Given the description of an element on the screen output the (x, y) to click on. 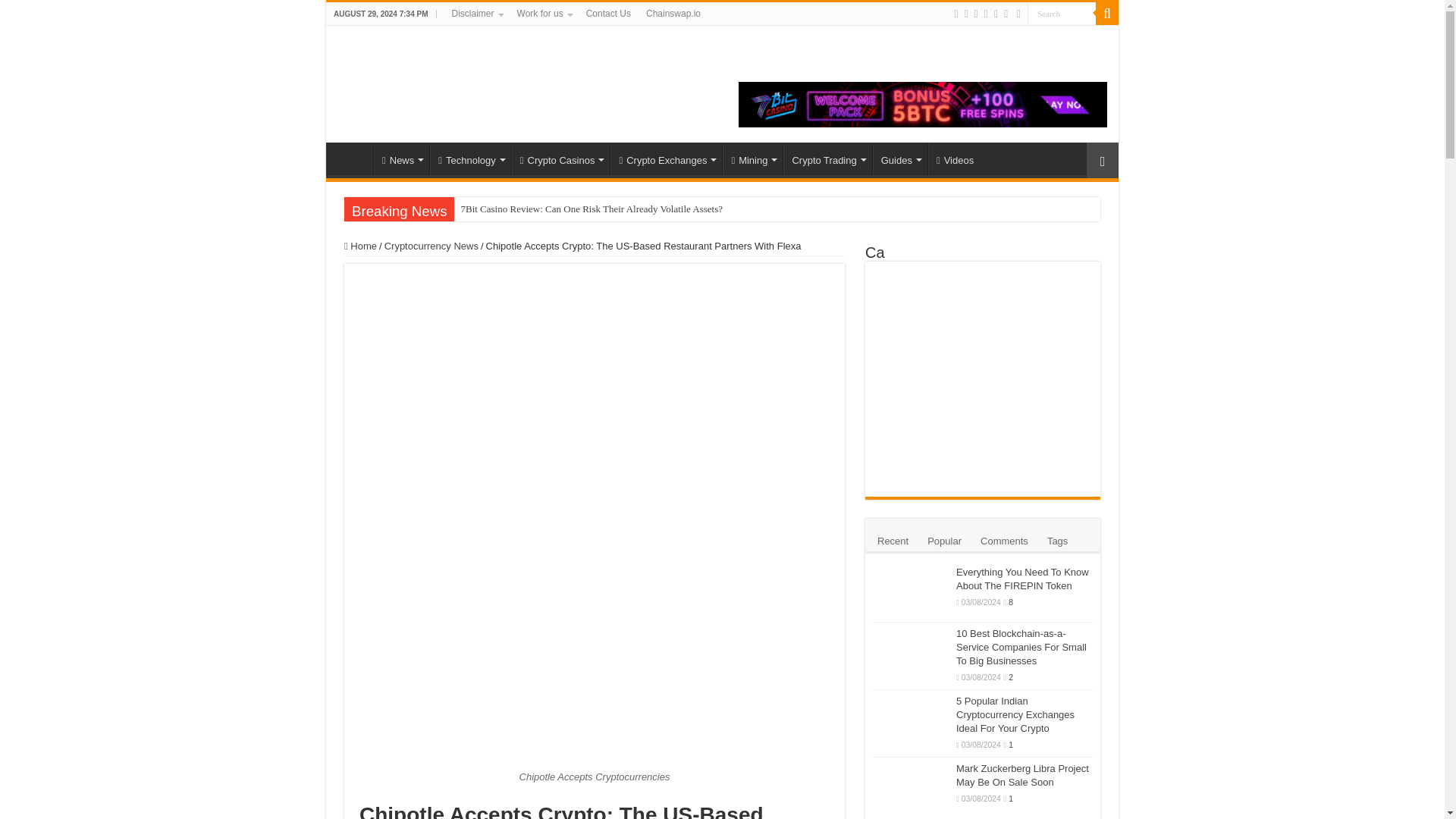
Work for us (543, 13)
Disclaimer (476, 13)
Search (1061, 13)
Home (352, 158)
Search (1061, 13)
Chainswap.io (673, 13)
Search (1061, 13)
Contact Us (608, 13)
Search (1107, 13)
News (401, 158)
